Given the description of an element on the screen output the (x, y) to click on. 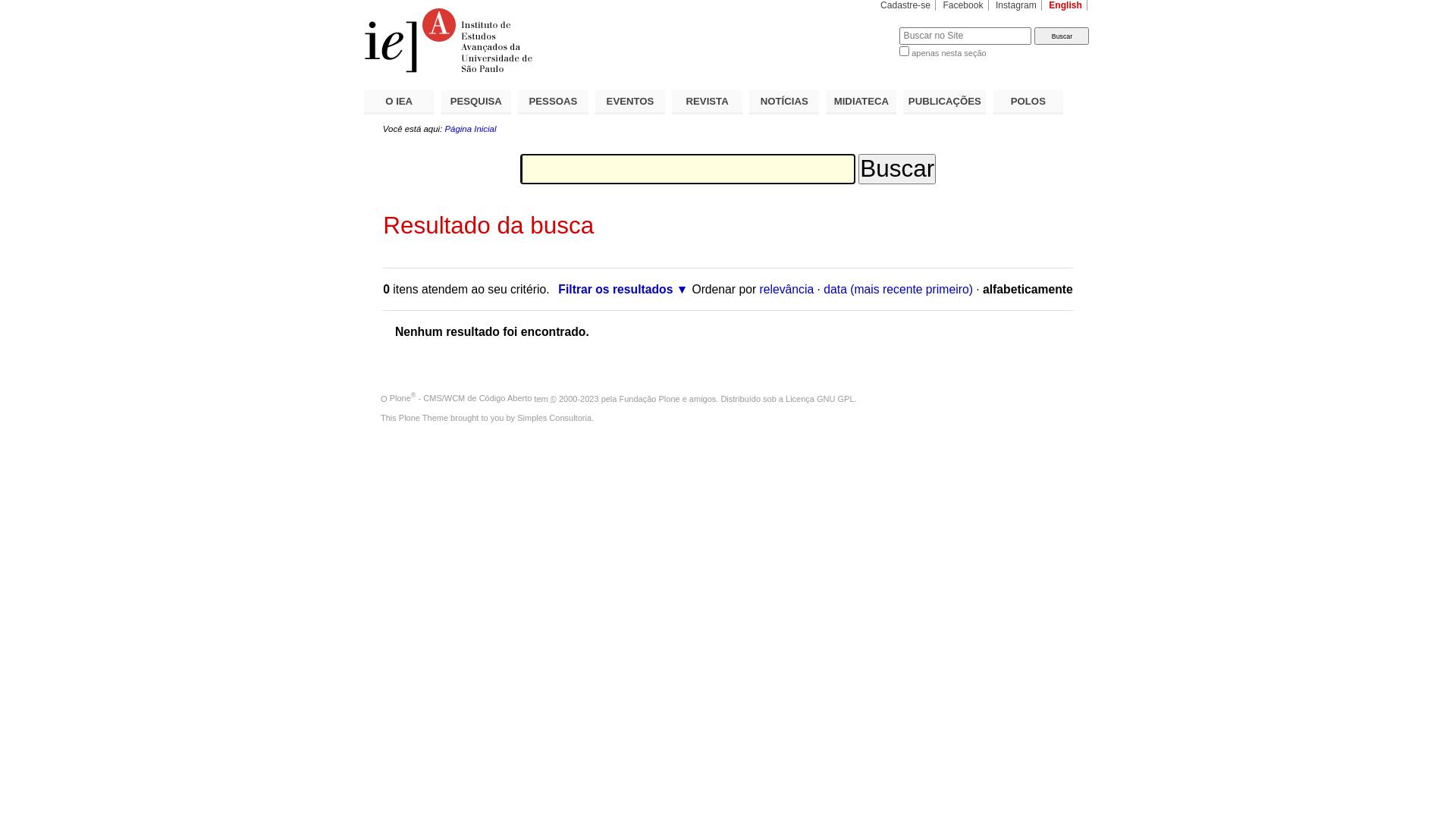
PESQUISA Element type: text (476, 101)
Filtrar os resultados Element type: text (622, 289)
PESSOAS Element type: text (552, 101)
Buscar Element type: text (896, 168)
Facebook Element type: text (962, 5)
REVISTA Element type: text (706, 101)
POLOS Element type: text (1028, 101)
Simples Consultoria Element type: text (554, 417)
English Element type: text (1065, 5)
MIDIATECA Element type: text (861, 101)
Buscar no Site Element type: hover (965, 35)
O IEA Element type: text (398, 101)
Cadastre-se Element type: text (905, 5)
Busca no Site Element type: hover (687, 168)
Buscar Element type: text (1061, 35)
Instagram Element type: text (1015, 5)
data (mais recente primeiro) Element type: text (897, 288)
EVENTOS Element type: text (630, 101)
